Given the description of an element on the screen output the (x, y) to click on. 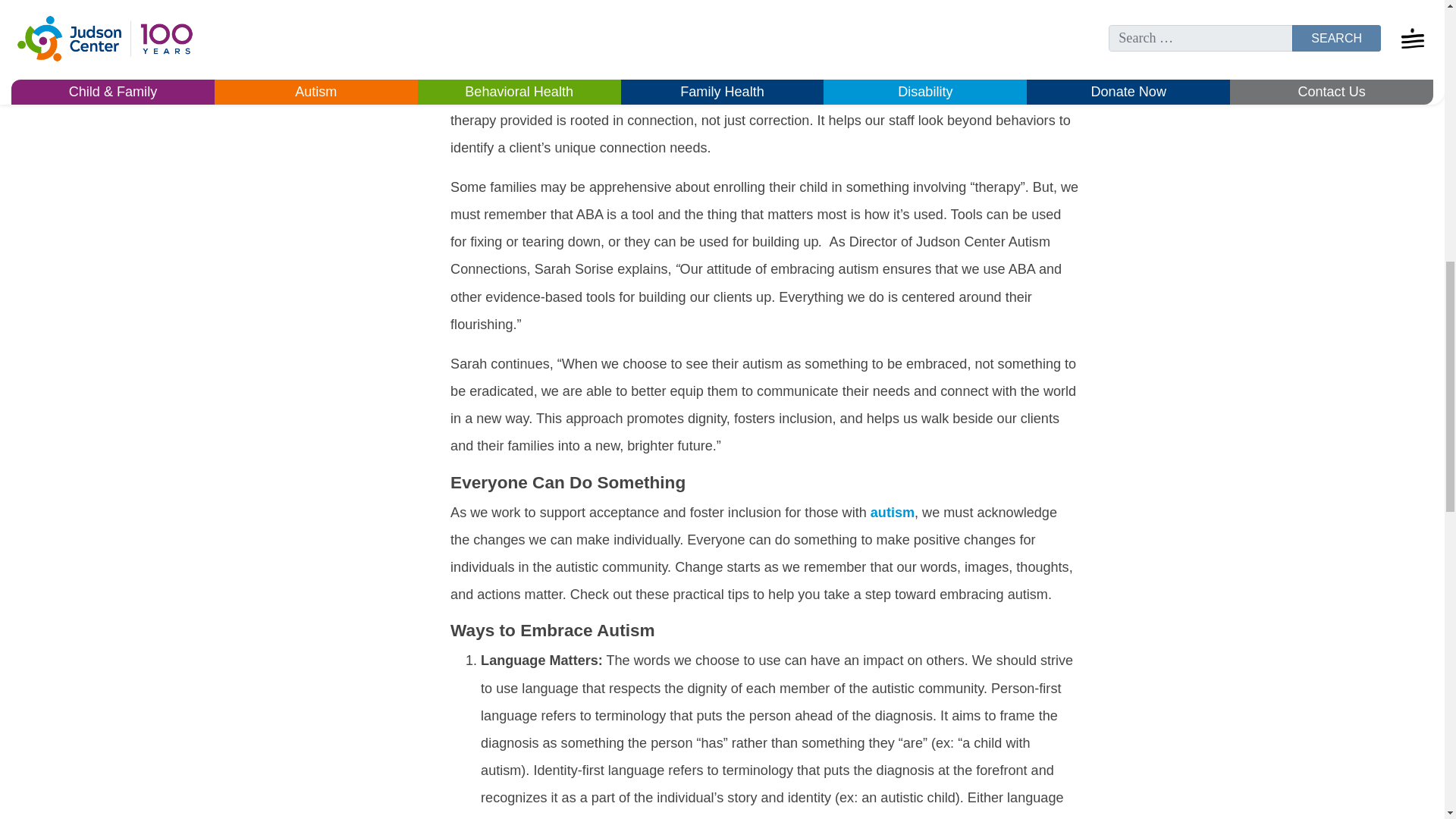
Applied Behavior Analysis (767, 64)
autism (892, 512)
Autism Connections (880, 10)
